Given the description of an element on the screen output the (x, y) to click on. 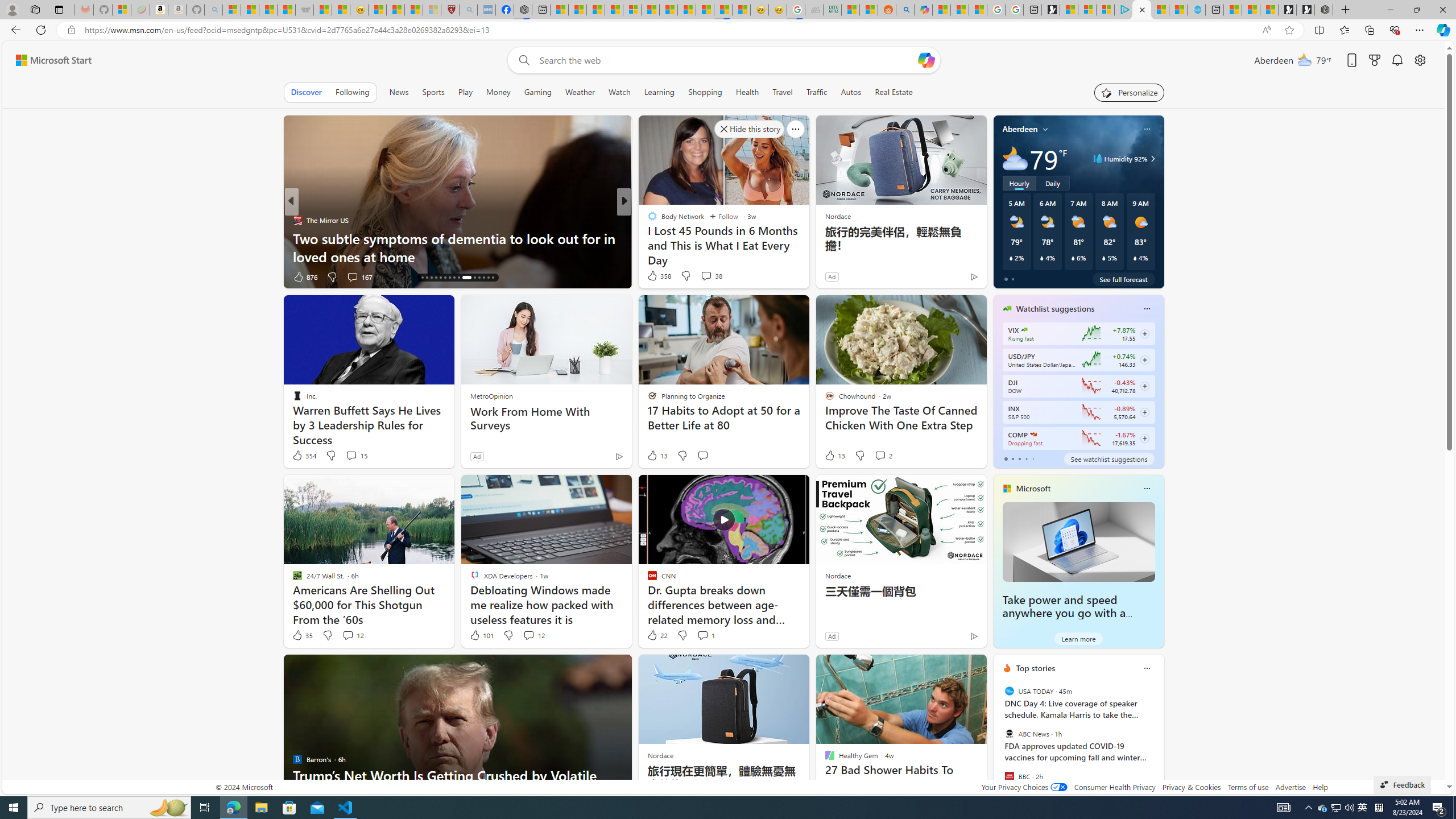
Autos (851, 92)
38 Like (652, 276)
list of asthma inhalers uk - Search - Sleeping (467, 9)
Real Estate (893, 92)
next (1158, 741)
Hide this story (952, 668)
Class: icon-img (1146, 668)
Daily (1052, 183)
Start the conversation (702, 455)
Play Free Online Games | Games from Microsoft Start (1305, 9)
AutomationID: tab-19 (435, 277)
Open settings (1420, 60)
